Given the description of an element on the screen output the (x, y) to click on. 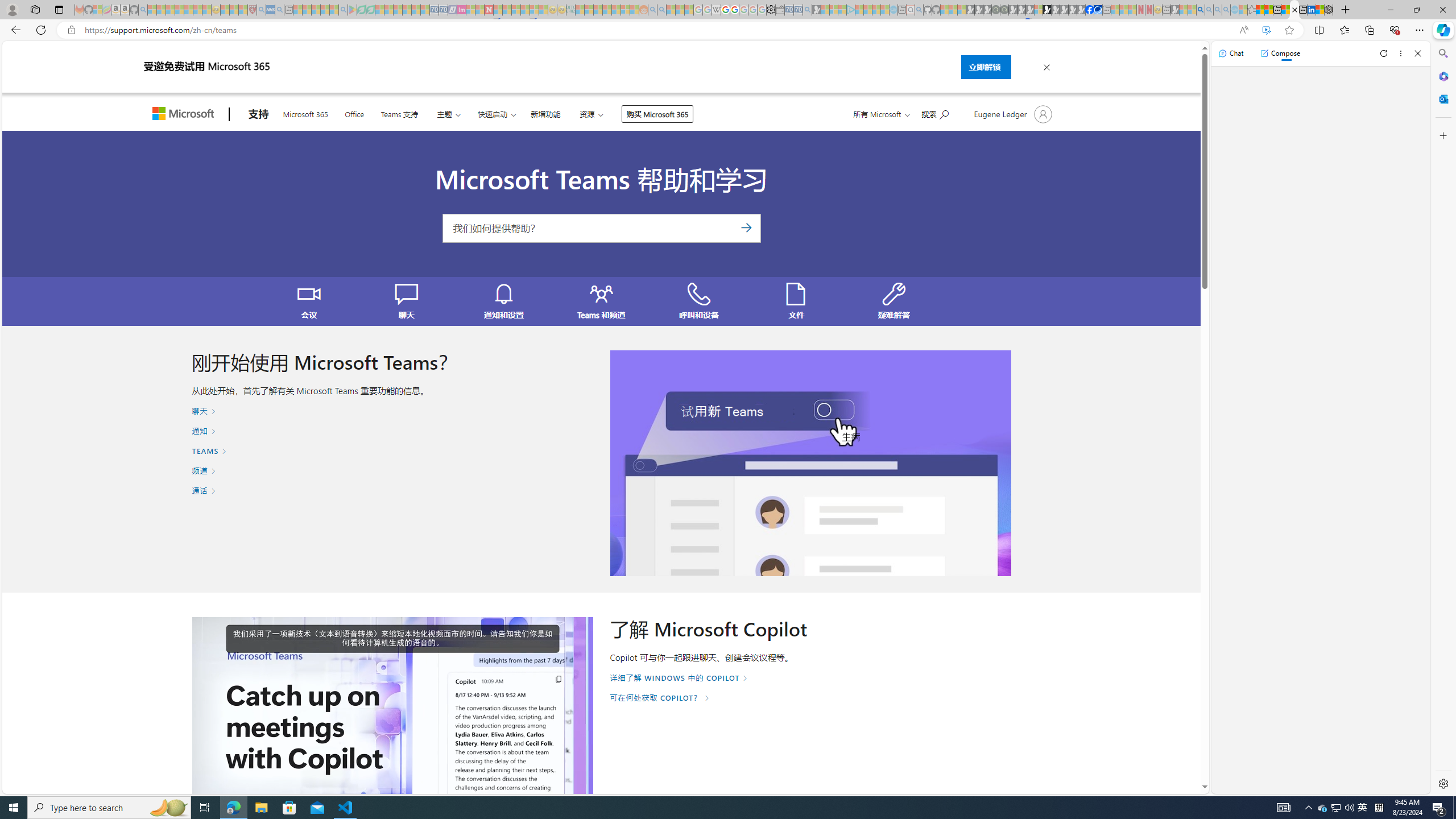
Minimize (1390, 9)
Refresh (1383, 53)
Close Customize pane (1442, 135)
Restore (1416, 9)
Split screen (1318, 29)
Browser essentials (1394, 29)
